Given the description of an element on the screen output the (x, y) to click on. 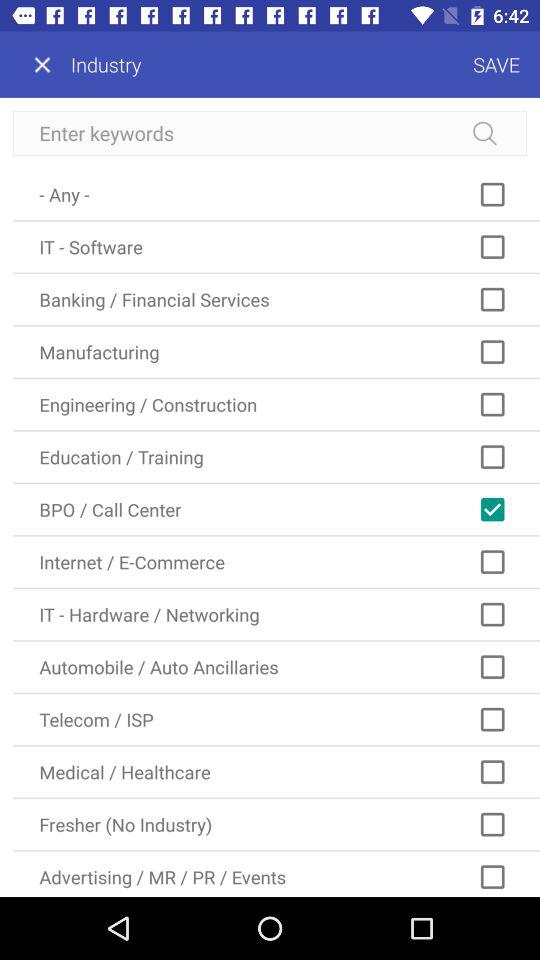
jump until the automobile / auto ancillaries item (276, 666)
